Given the description of an element on the screen output the (x, y) to click on. 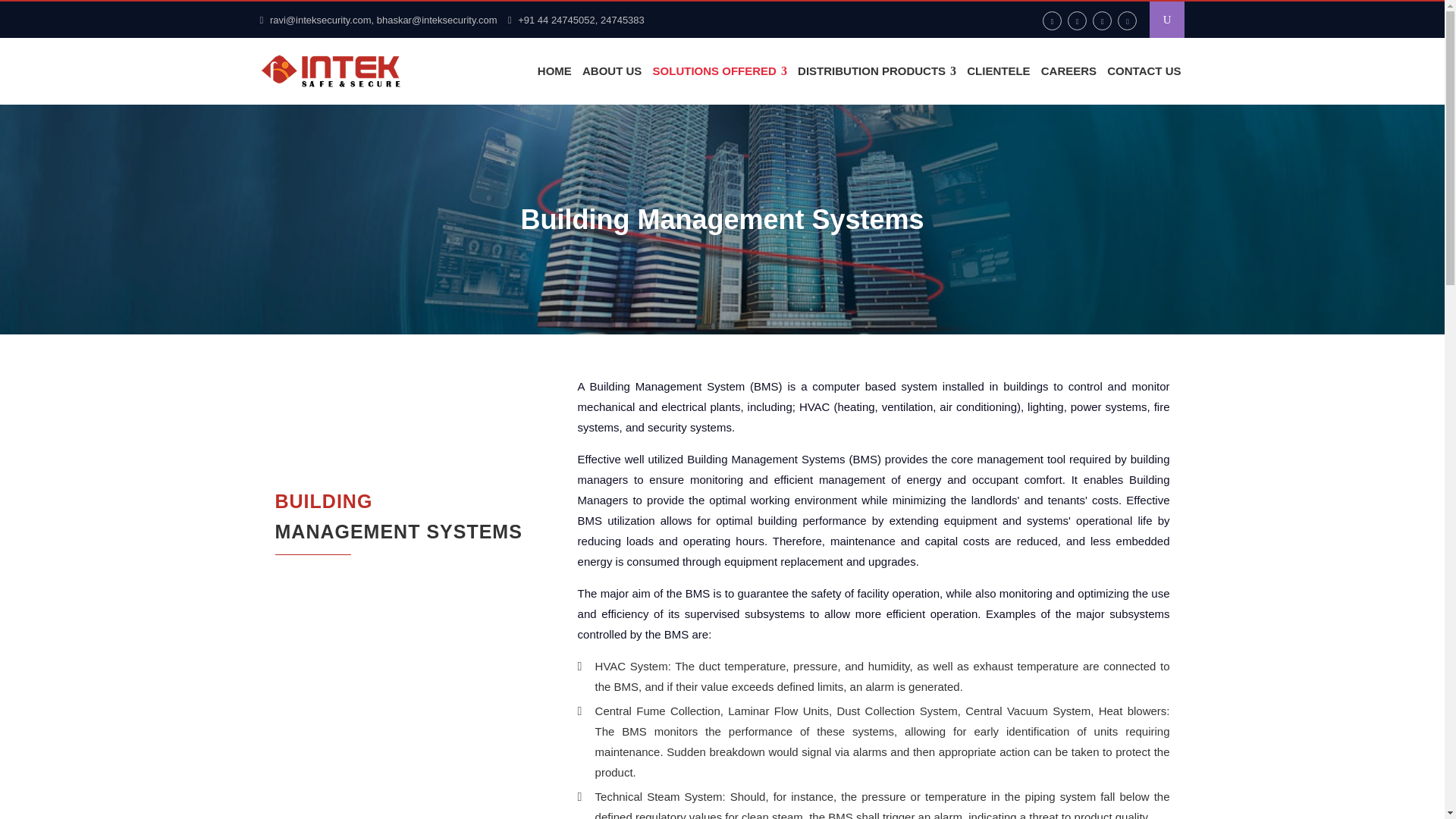
linkedin (1102, 20)
facebook (1051, 20)
HOME (554, 70)
youtube (1127, 20)
ABOUT US (418, 520)
instagram (611, 70)
